Given the description of an element on the screen output the (x, y) to click on. 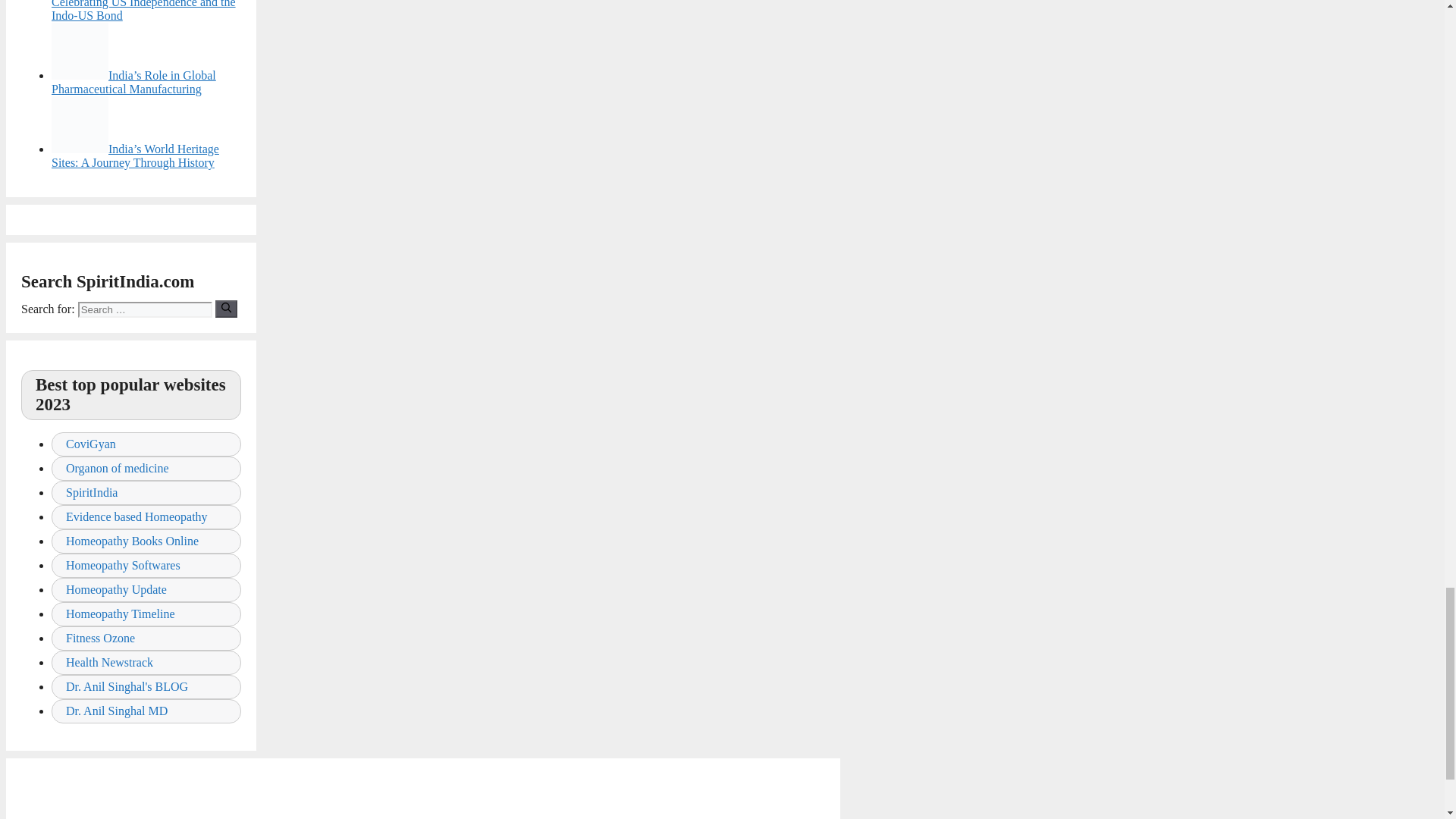
Search for: (145, 309)
